Given the description of an element on the screen output the (x, y) to click on. 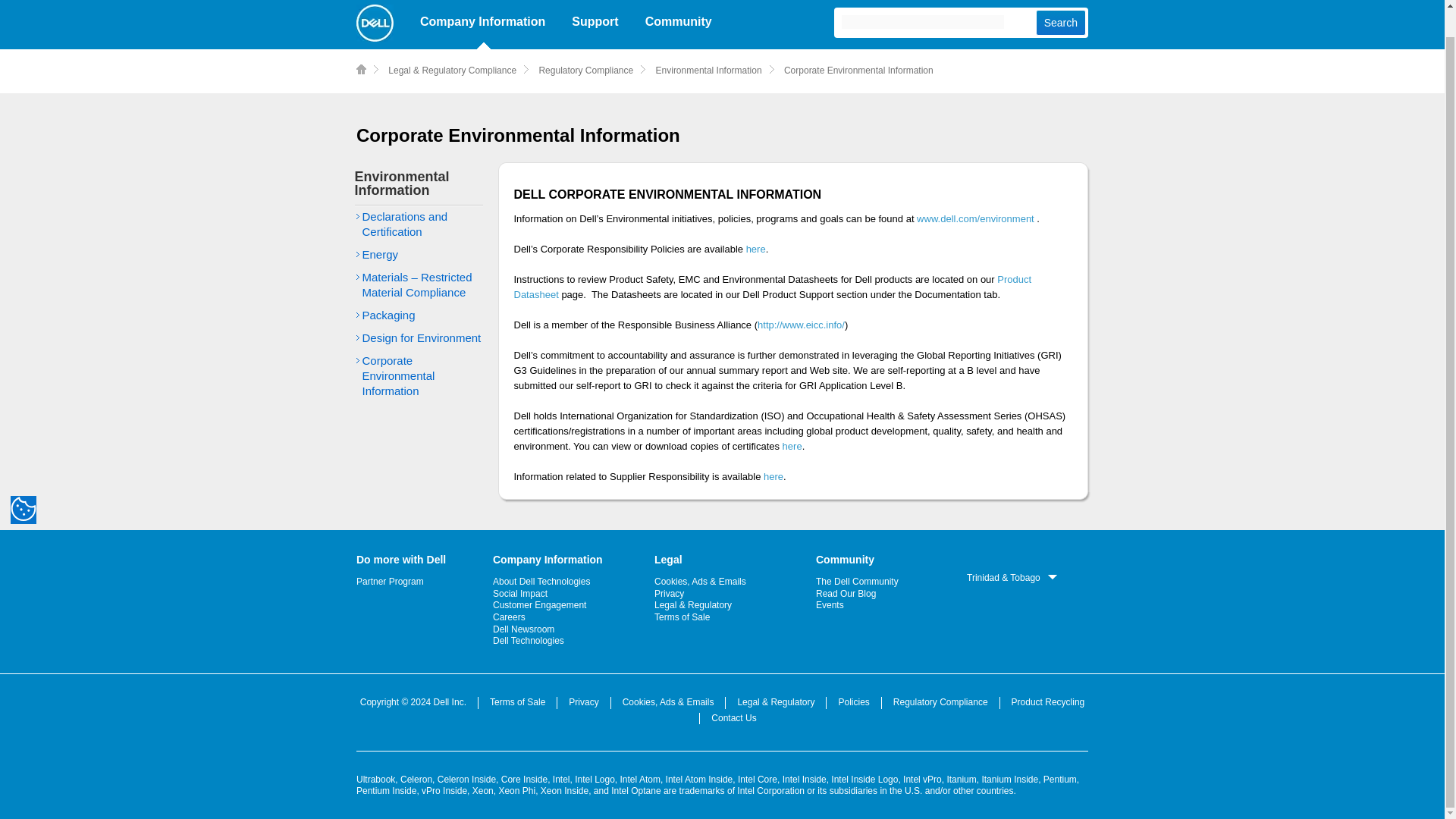
Packaging (388, 314)
Energy (380, 254)
Community (678, 24)
Support (594, 24)
Search (1060, 22)
Corporate Environmental Information (398, 375)
Design for Environment (421, 337)
Declarations and Certification (405, 223)
Company Information (482, 24)
